Given the description of an element on the screen output the (x, y) to click on. 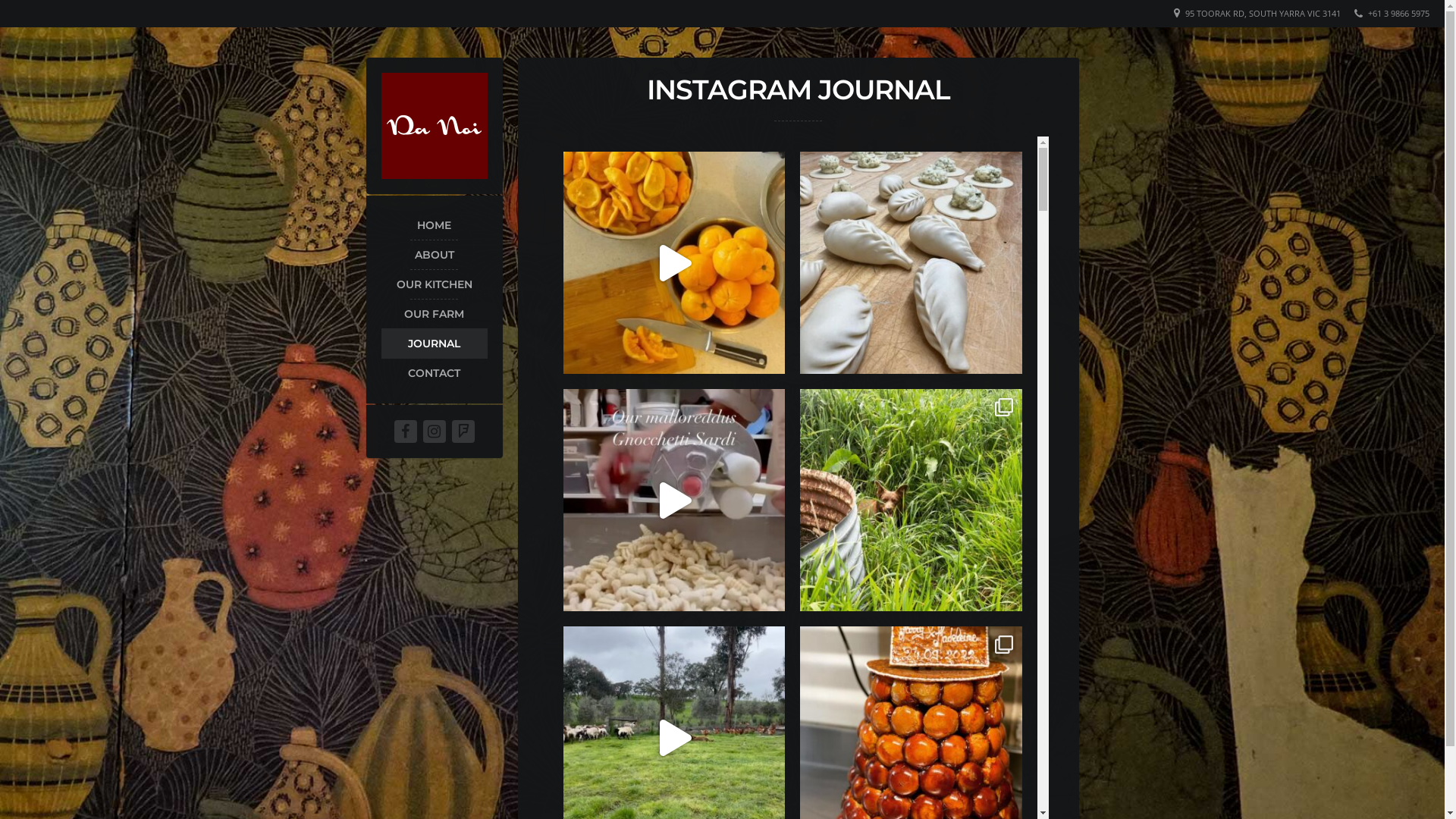
+61 3 9866 5975 Element type: text (1398, 12)
OUR KITCHEN Element type: text (433, 284)
HOME Element type: text (433, 225)
CONTACT Element type: text (433, 372)
JOURNAL Element type: text (433, 343)
ABOUT Element type: text (433, 254)
OUR FARM Element type: text (433, 313)
95 TOORAK RD, SOUTH YARRA VIC 3141 Element type: text (1262, 12)
